Given the description of an element on the screen output the (x, y) to click on. 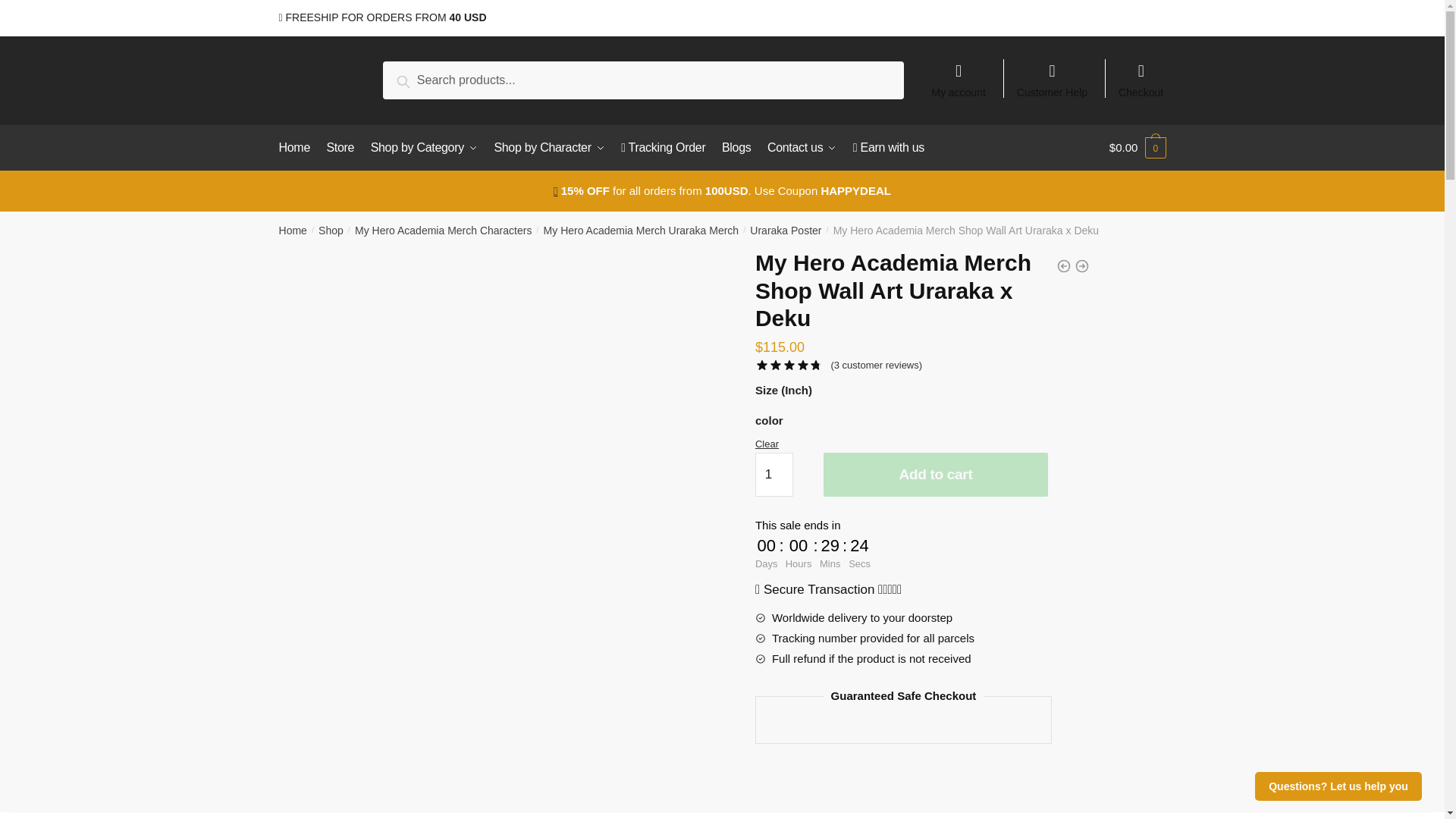
View your shopping cart (1137, 147)
Search (420, 78)
Customer Help (1052, 73)
My account (957, 73)
Checkout (1141, 73)
Shop by Category (424, 147)
